Given the description of an element on the screen output the (x, y) to click on. 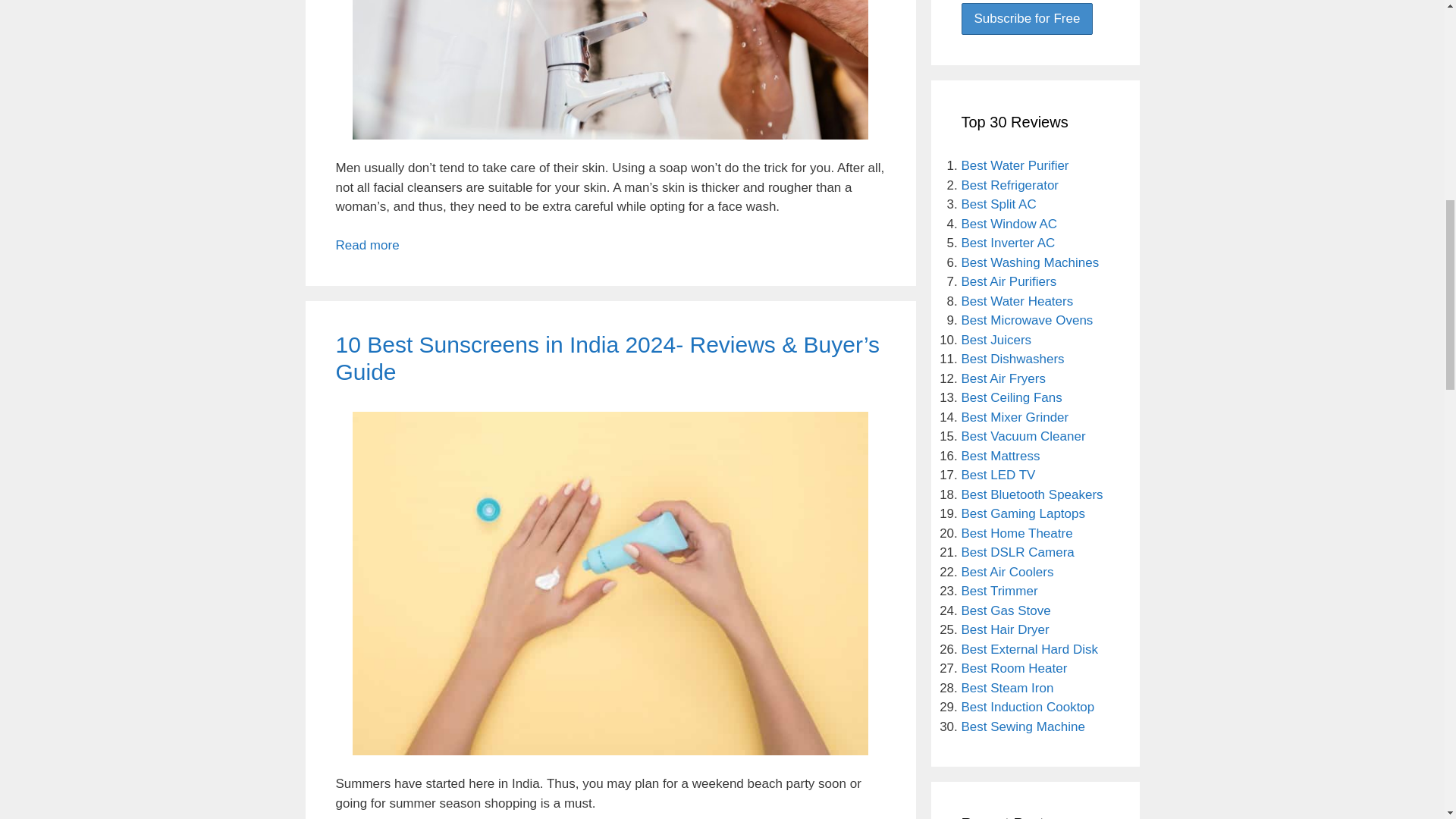
Read more (366, 245)
Subscribe for Free (1026, 19)
